Given the description of an element on the screen output the (x, y) to click on. 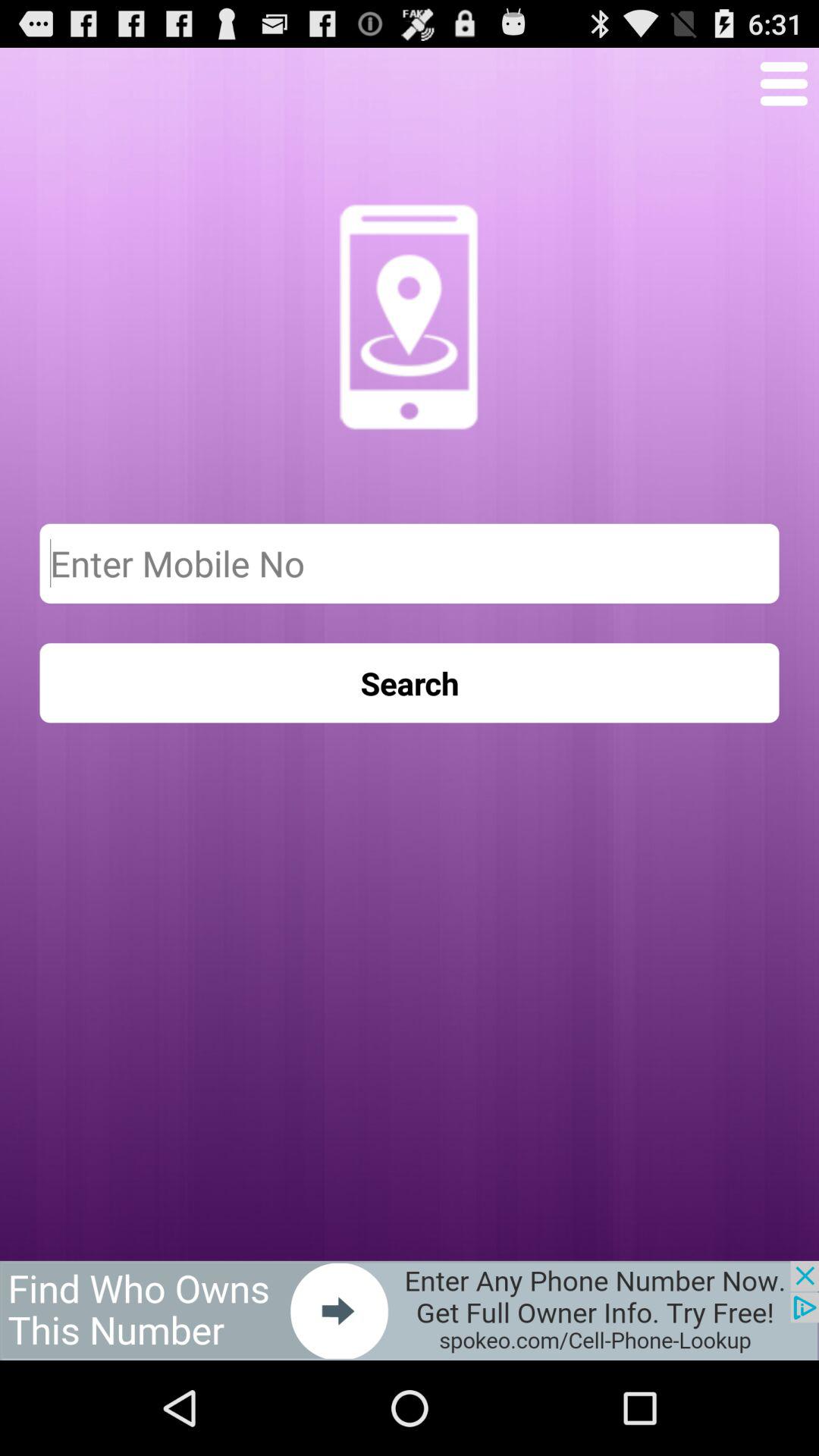
space mobile number (409, 563)
